Given the description of an element on the screen output the (x, y) to click on. 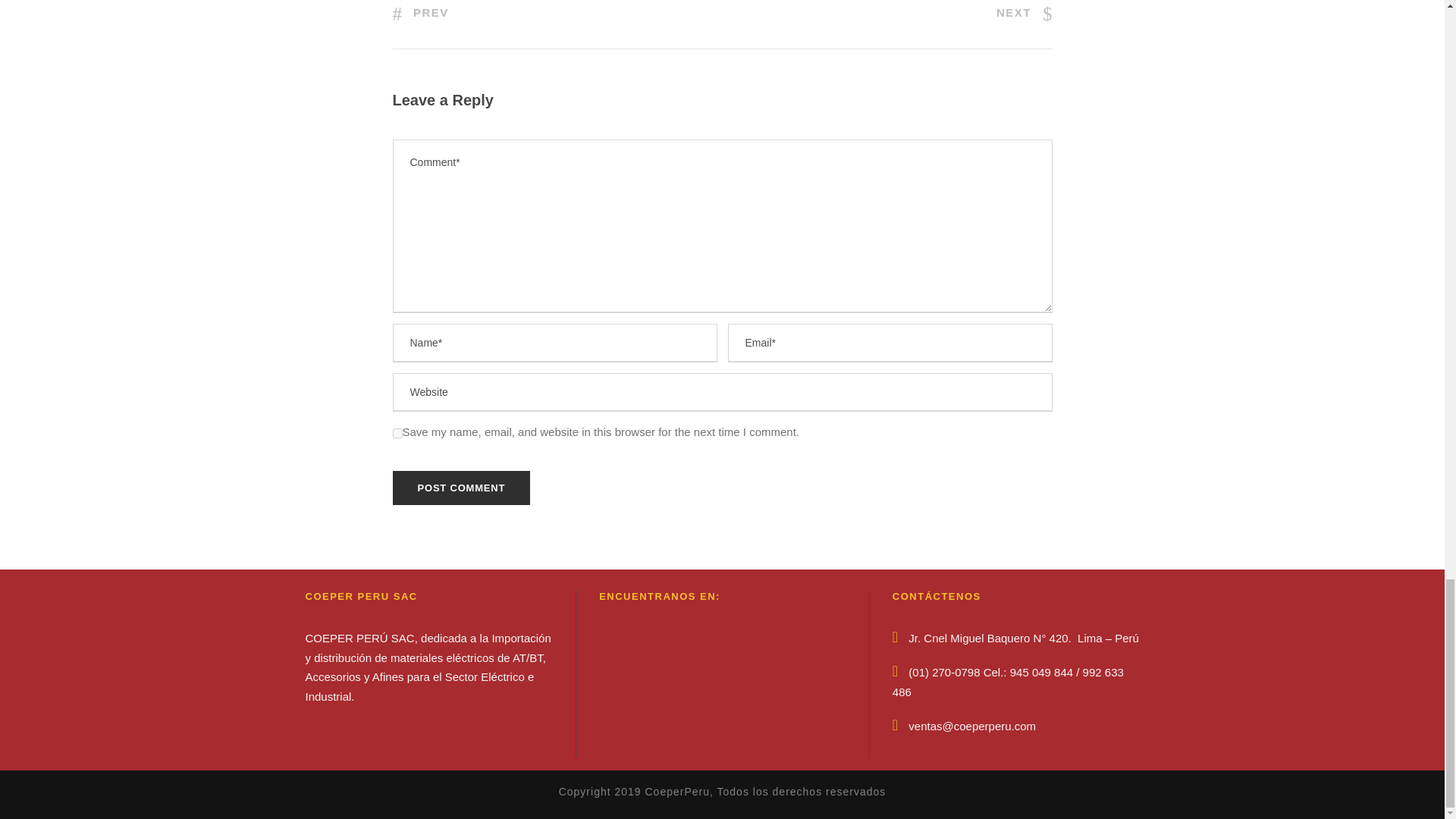
yes (398, 433)
Post Comment (462, 487)
